Given the description of an element on the screen output the (x, y) to click on. 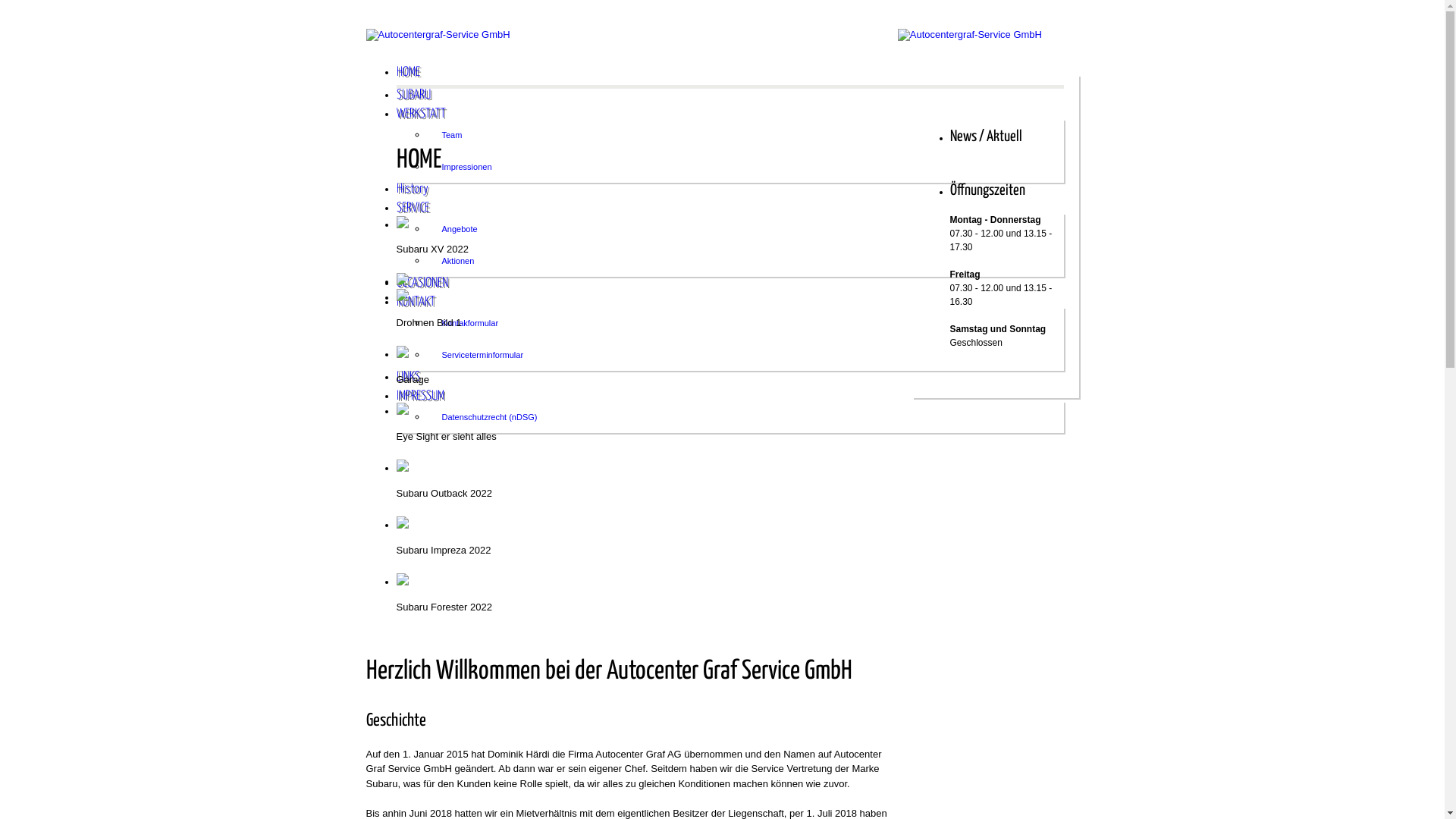
Serviceterminformular Element type: text (737, 354)
SUBARU Element type: text (729, 97)
Datenschutzrecht (nDSG) Element type: text (737, 417)
OCCASIONEN Element type: text (729, 285)
LINKS Element type: text (729, 379)
SERVICE Element type: text (729, 210)
KONTAKT Element type: text (729, 304)
Team Element type: text (737, 134)
Aktionen Element type: text (737, 260)
Kontakformular Element type: text (737, 322)
WERKSTATT Element type: text (729, 116)
IMPRESSUM Element type: text (729, 398)
History Element type: text (729, 191)
HOME Element type: text (729, 76)
Impressionen Element type: text (737, 166)
Angebote Element type: text (737, 228)
